Given the description of an element on the screen output the (x, y) to click on. 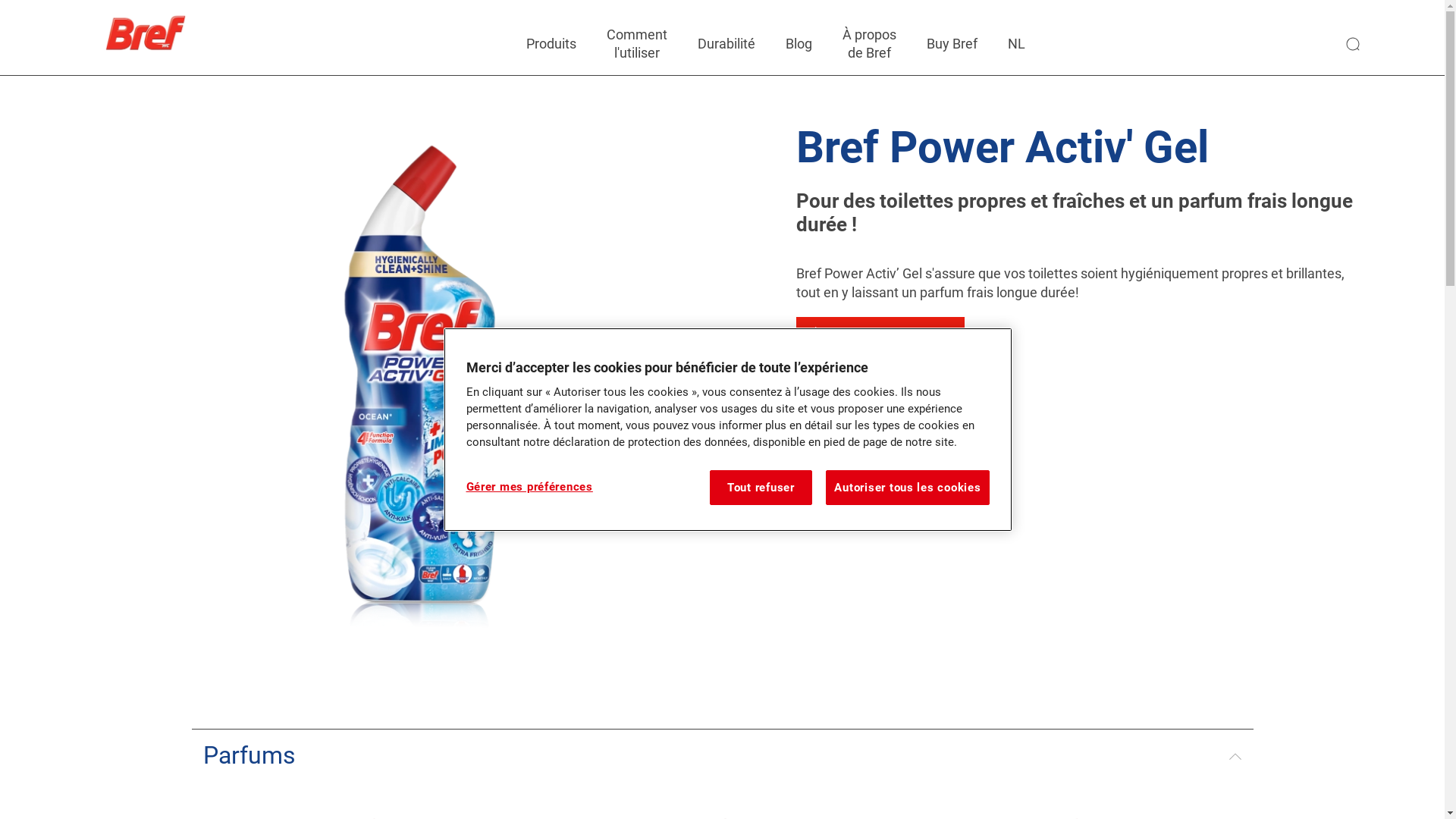
Comment
l'utiliser Element type: text (636, 43)
Autoriser tous les cookies Element type: text (906, 487)
Acheter maintenant Element type: text (880, 332)
Produits Element type: text (551, 43)
Buy Bref Element type: text (951, 43)
Blog Element type: text (798, 43)
NL Element type: text (1015, 43)
Parfums Element type: text (721, 755)
Tout refuser Element type: text (760, 487)
